Given the description of an element on the screen output the (x, y) to click on. 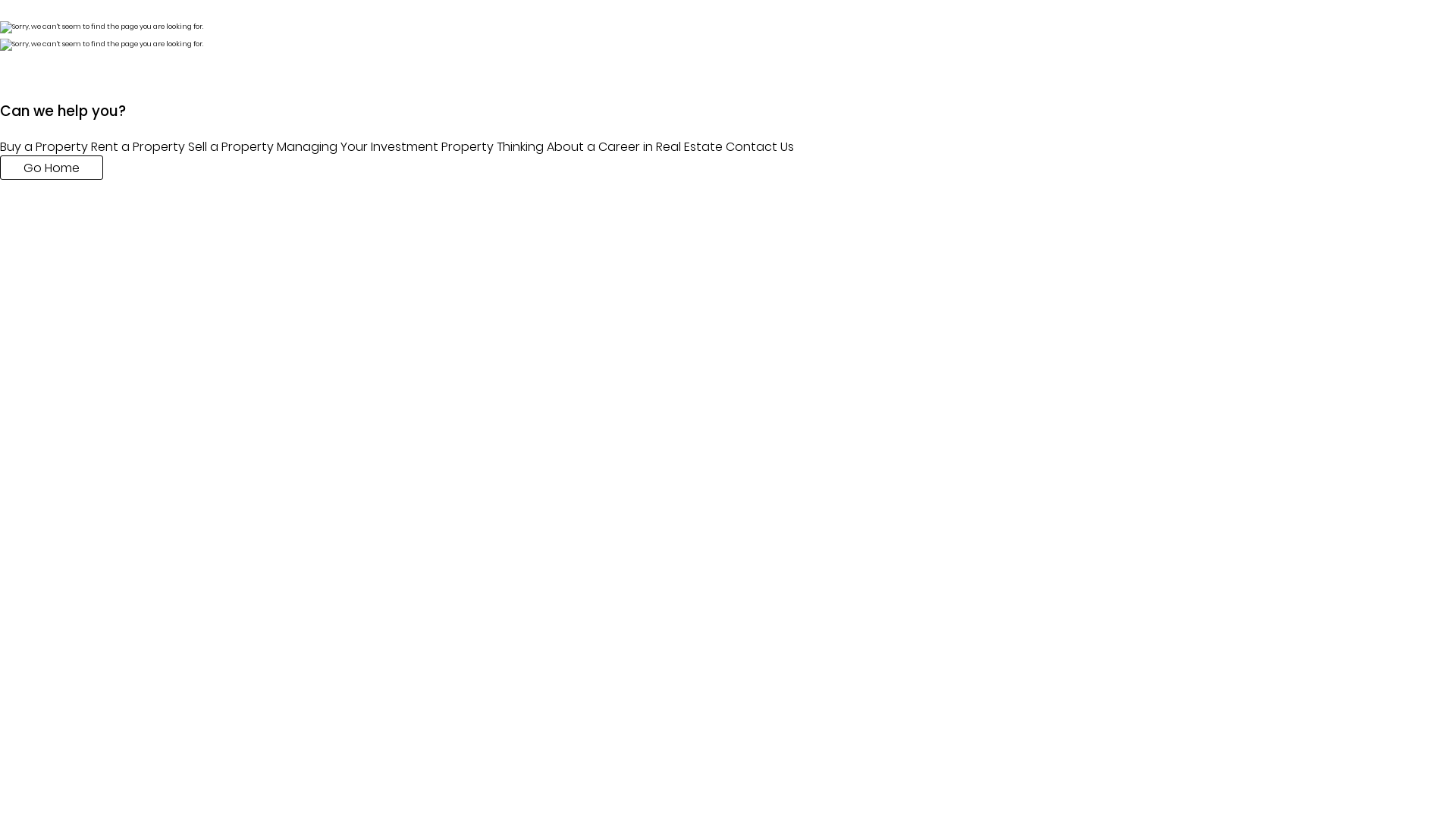
Go Home Element type: text (51, 167)
Sell a Property Element type: text (230, 146)
Buy a Property Element type: text (43, 146)
Contact Us Element type: text (759, 146)
Thinking About a Career in Real Estate Element type: text (609, 146)
Managing Your Investment Property Element type: text (384, 146)
Rent a Property Element type: text (138, 146)
